Given the description of an element on the screen output the (x, y) to click on. 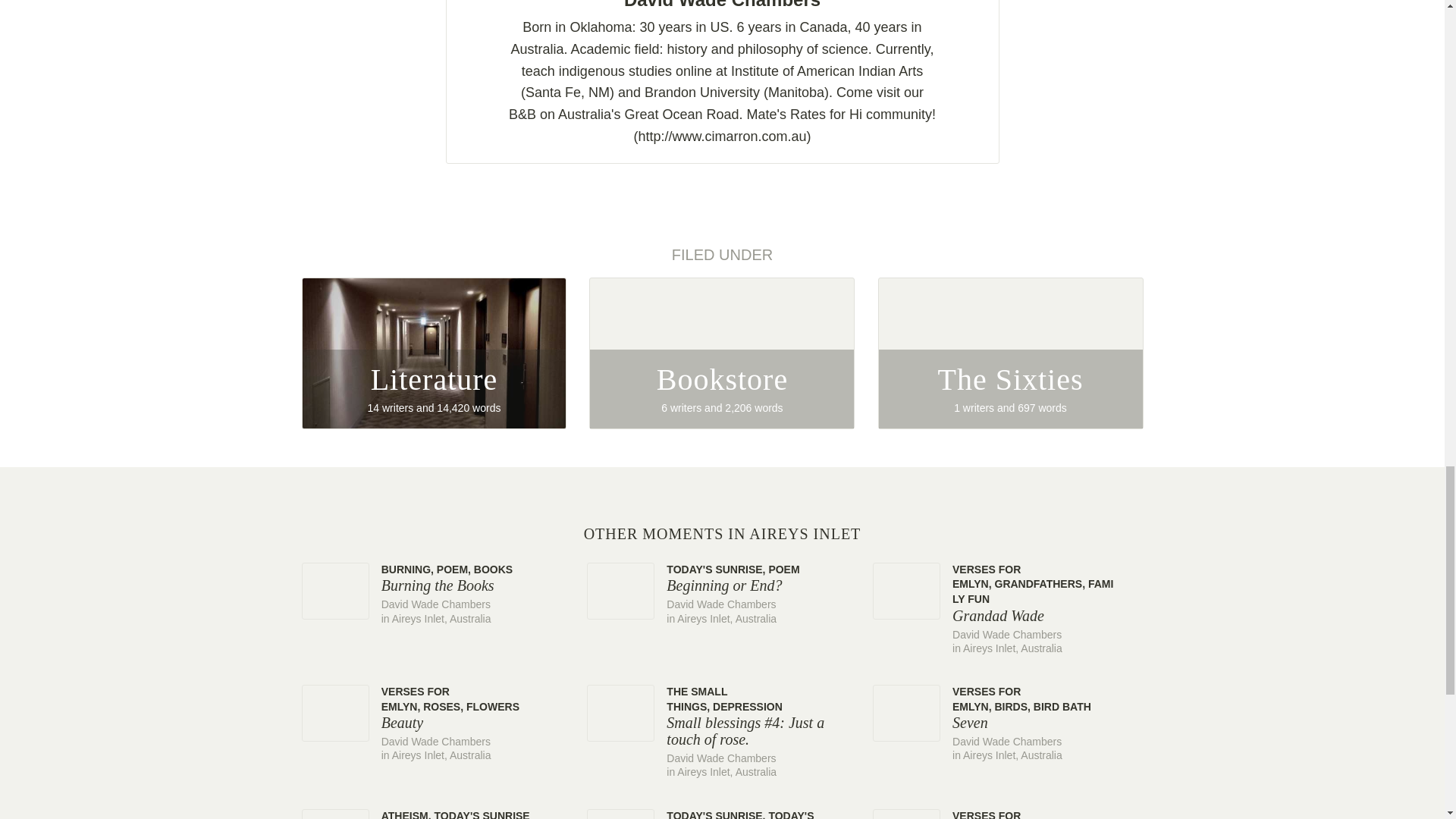
OTHER MOMENTS IN AIREYS INLET (721, 353)
David Wade Chambers (721, 533)
